Given the description of an element on the screen output the (x, y) to click on. 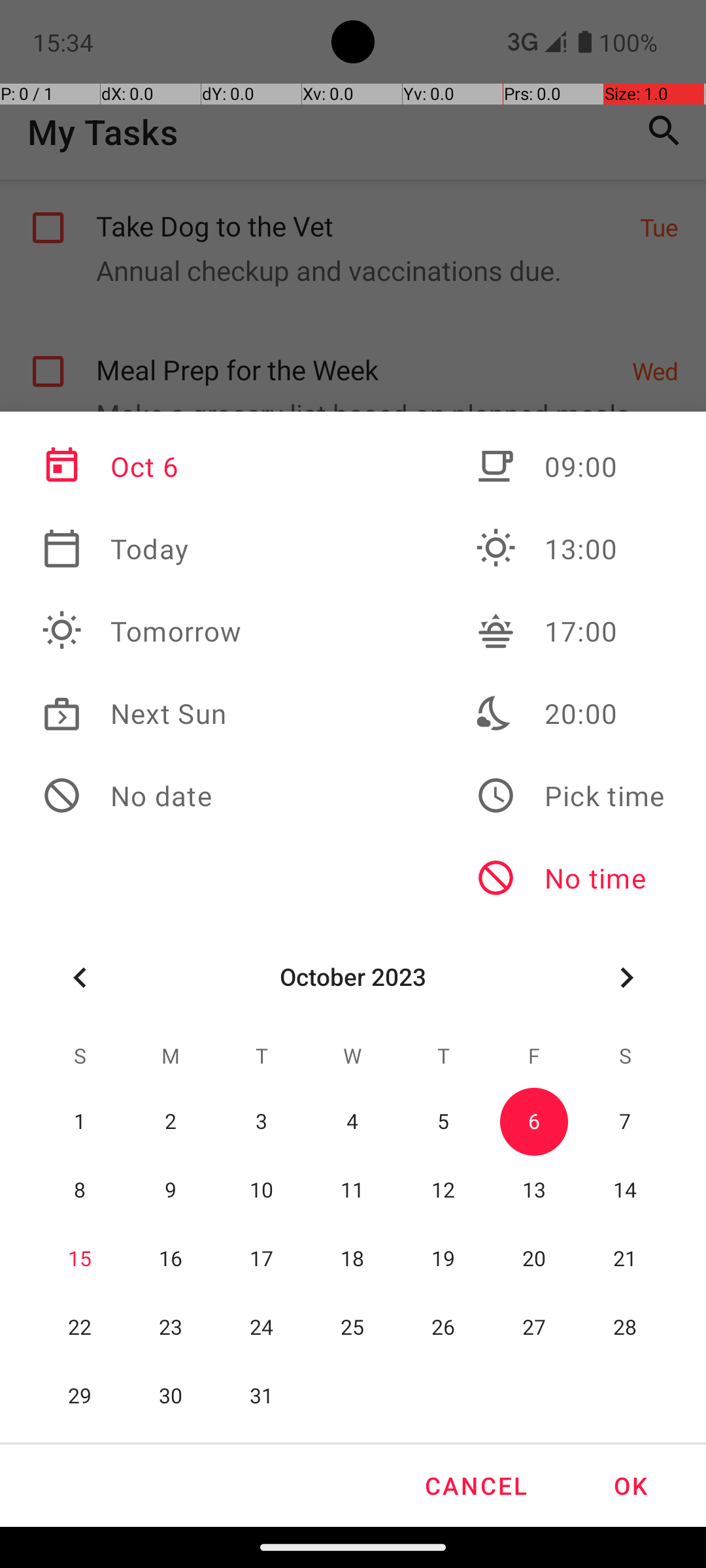
Oct 6 Element type: android.widget.CompoundButton (141, 466)
Tomorrow Element type: android.widget.CompoundButton (141, 630)
Next Sun Element type: android.widget.CompoundButton (141, 713)
No date Element type: android.widget.CompoundButton (141, 795)
20:00 Element type: android.widget.CompoundButton (569, 713)
No time Element type: android.widget.CompoundButton (569, 877)
